Given the description of an element on the screen output the (x, y) to click on. 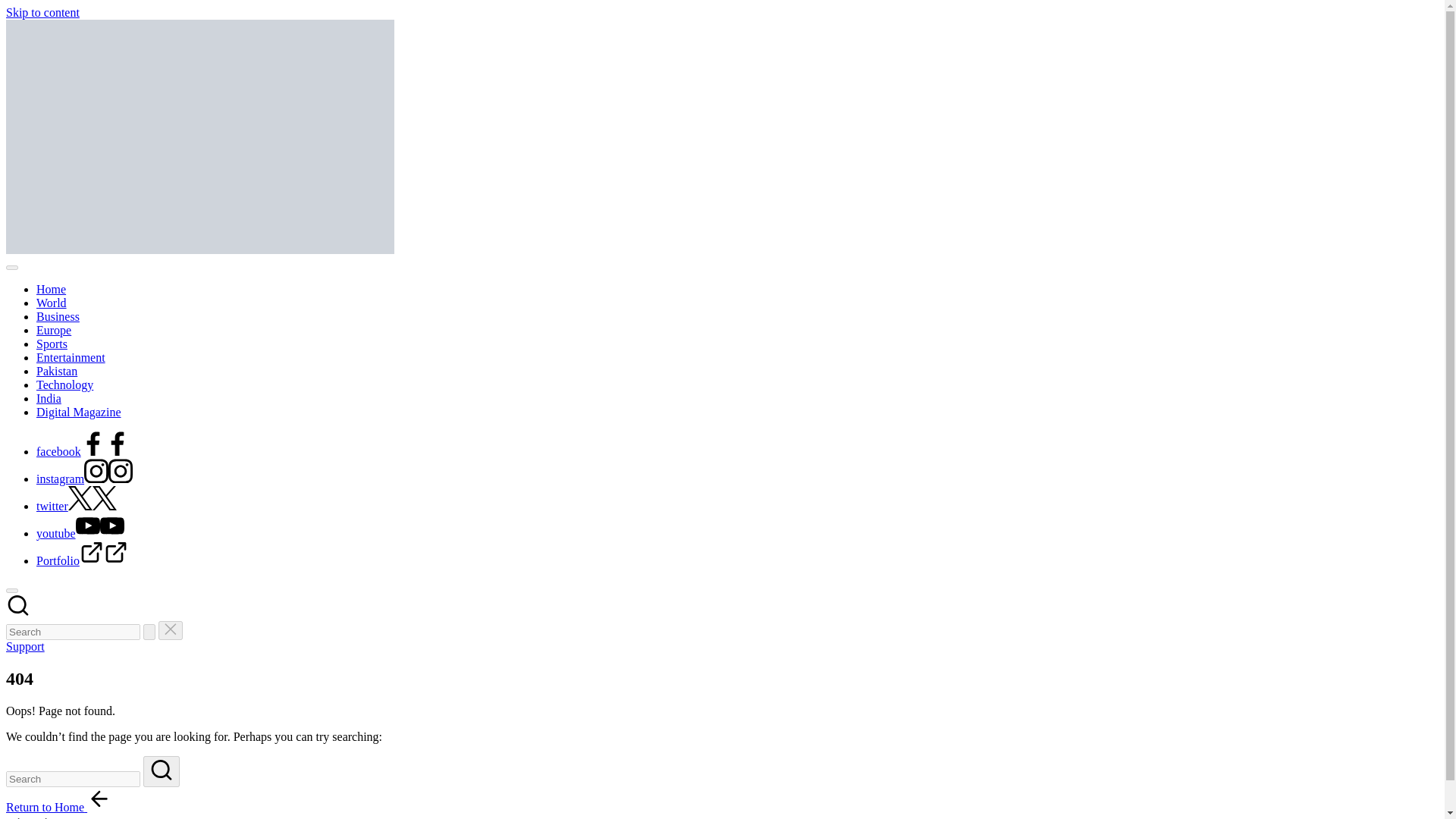
Technology (64, 384)
Pakistan (56, 370)
India (48, 398)
Home (50, 288)
Skip to content (42, 11)
Youtube (99, 533)
Facebook (105, 451)
instagram (84, 478)
Sports (51, 343)
Digital Magazine (78, 411)
